Given the description of an element on the screen output the (x, y) to click on. 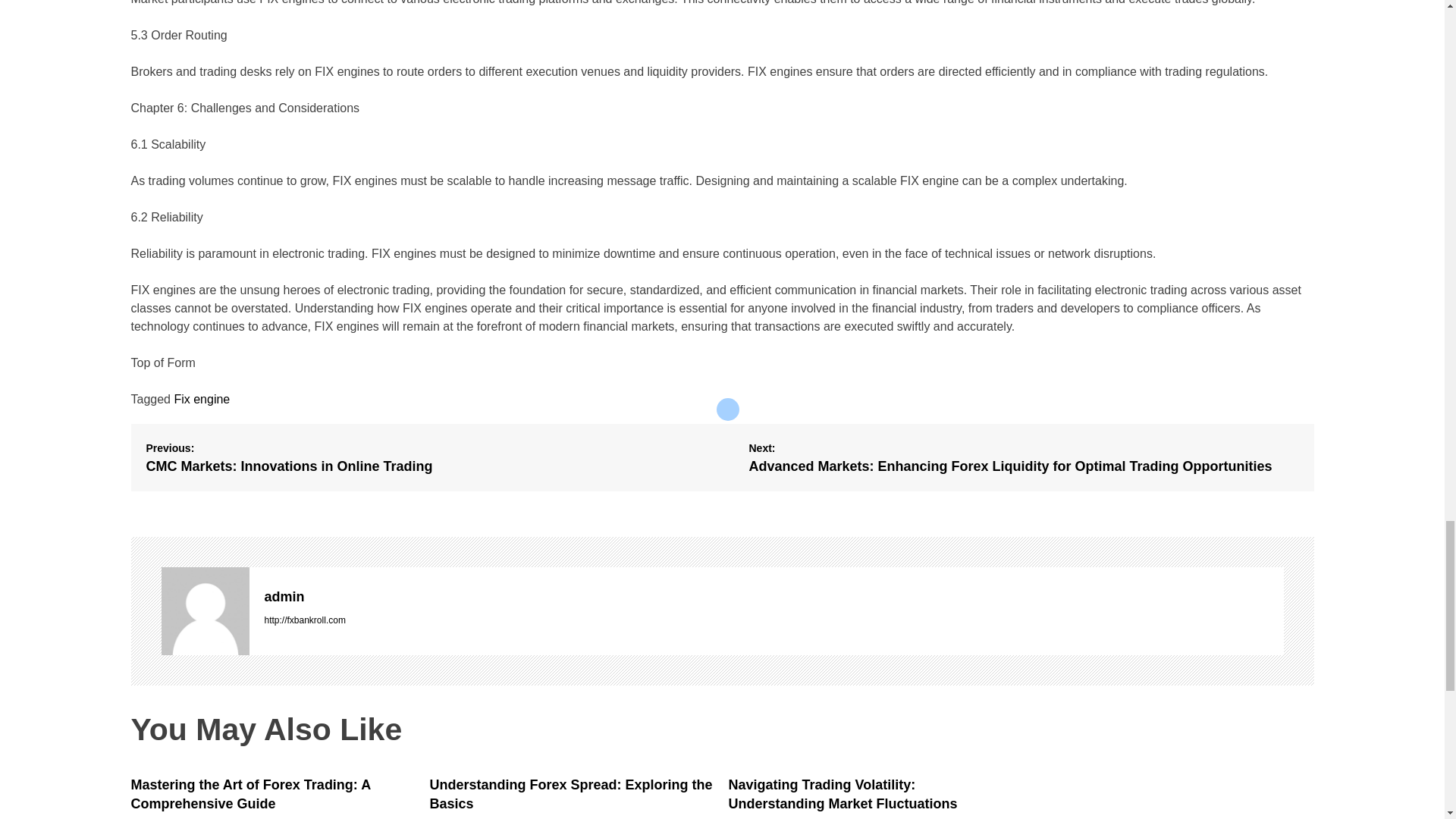
admin (204, 611)
Mastering the Art of Forex Trading: A Comprehensive Guide (251, 794)
Fix engine (201, 399)
Understanding Forex Spread: Exploring the Basics (570, 794)
admin (772, 597)
admin (772, 597)
